Given the description of an element on the screen output the (x, y) to click on. 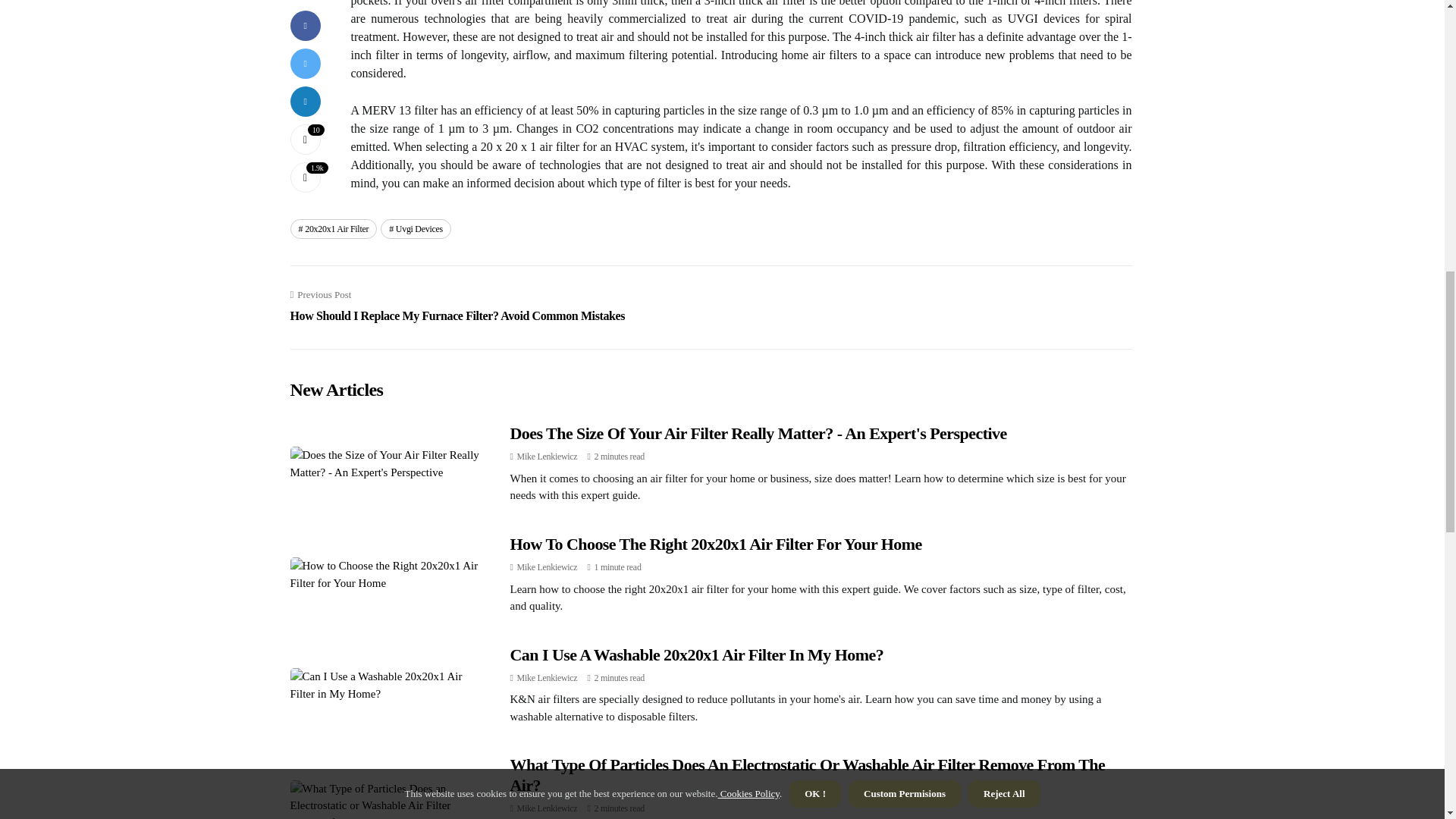
Posts by Mike Lenkiewicz (547, 566)
Posts by Mike Lenkiewicz (547, 456)
Can I Use A Washable 20x20x1 Air Filter In My Home? (696, 654)
Mike Lenkiewicz (547, 456)
How To Choose The Right 20x20x1 Air Filter For Your Home (715, 543)
Posts by Mike Lenkiewicz (547, 677)
Uvgi Devices (415, 229)
